Given the description of an element on the screen output the (x, y) to click on. 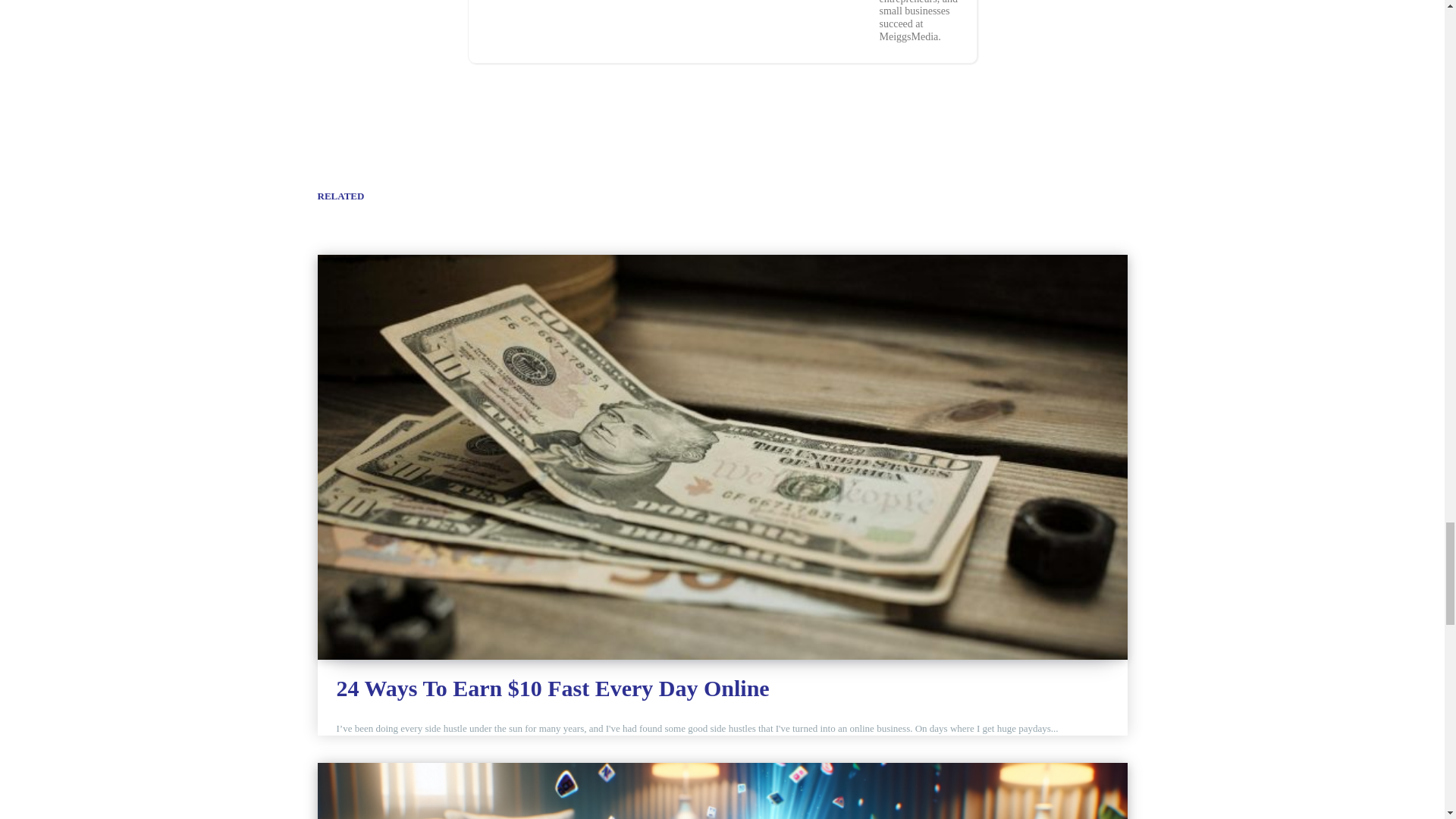
Brian Meiggs (673, 23)
